Given the description of an element on the screen output the (x, y) to click on. 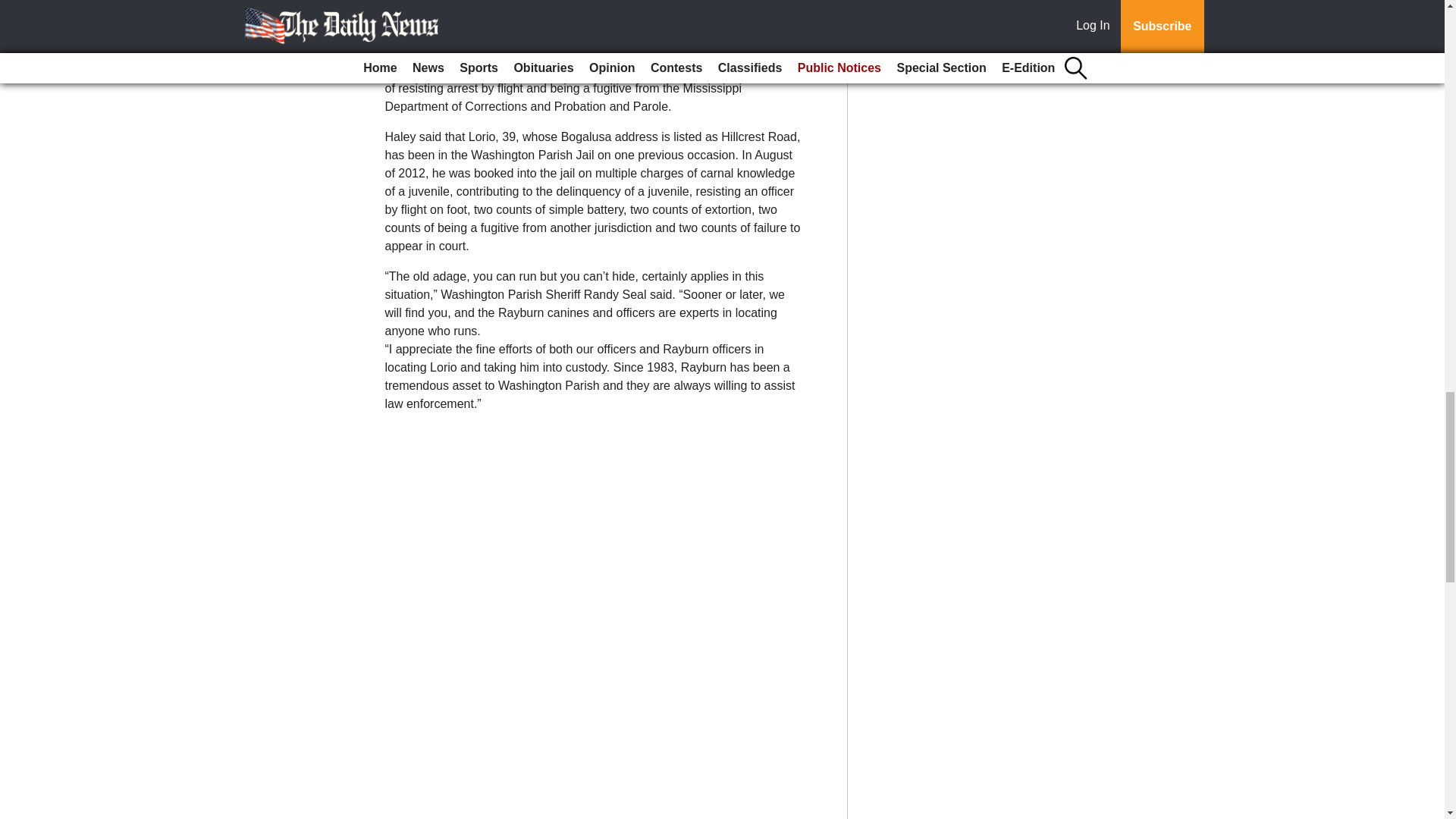
Subscribe (434, 5)
Subscribe (434, 5)
